Given the description of an element on the screen output the (x, y) to click on. 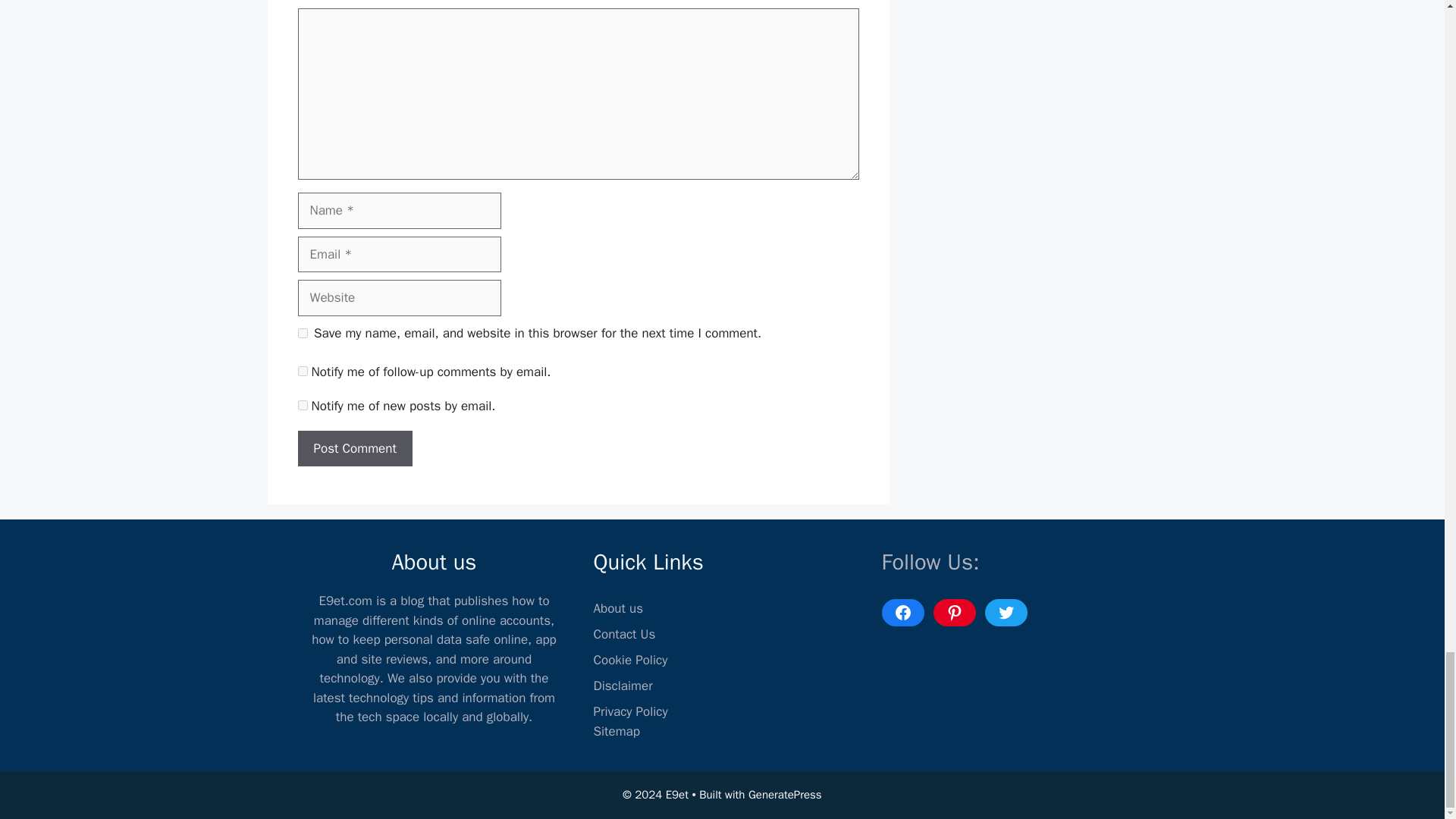
subscribe (302, 405)
subscribe (302, 370)
Cookie Policy (629, 659)
Privacy Policy (629, 711)
Disclaimer (622, 685)
Pinterest (954, 612)
Facebook (901, 612)
yes (302, 333)
Sitemap (615, 731)
Post Comment (354, 448)
About us (617, 608)
Contact Us (623, 634)
Post Comment (354, 448)
